Given the description of an element on the screen output the (x, y) to click on. 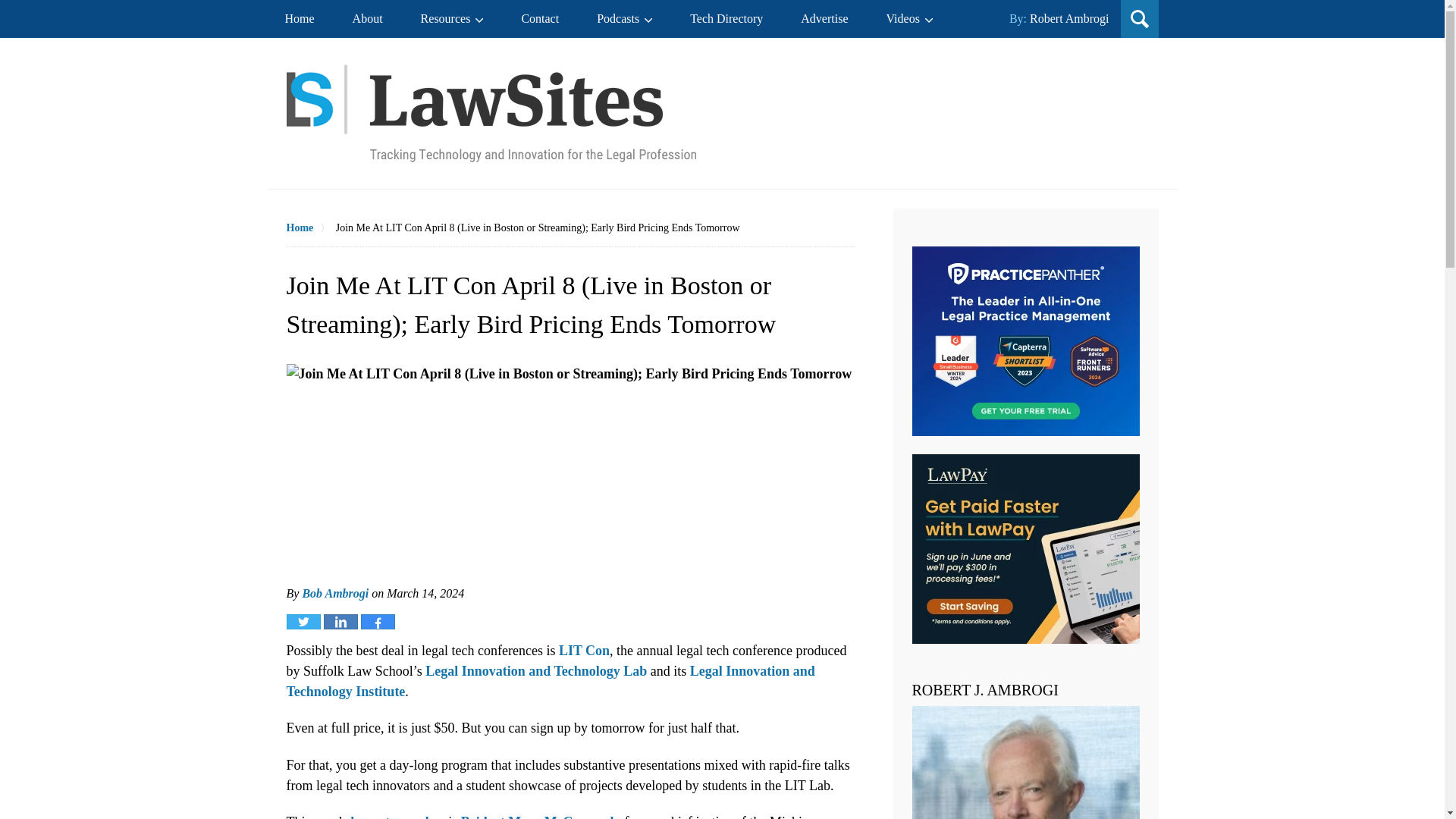
Resources (451, 18)
Home (311, 227)
Search (1046, 118)
LIT Con (584, 650)
Tech Directory (726, 18)
Podcasts (624, 18)
Bridget Mary McCormack (539, 816)
Tweet (303, 621)
Share (377, 621)
Home (298, 18)
Robert Ambrogi (1068, 18)
Robert Ambrogi Blog (490, 113)
Videos (909, 18)
Bob Ambrogi (334, 593)
Contact (539, 18)
